Given the description of an element on the screen output the (x, y) to click on. 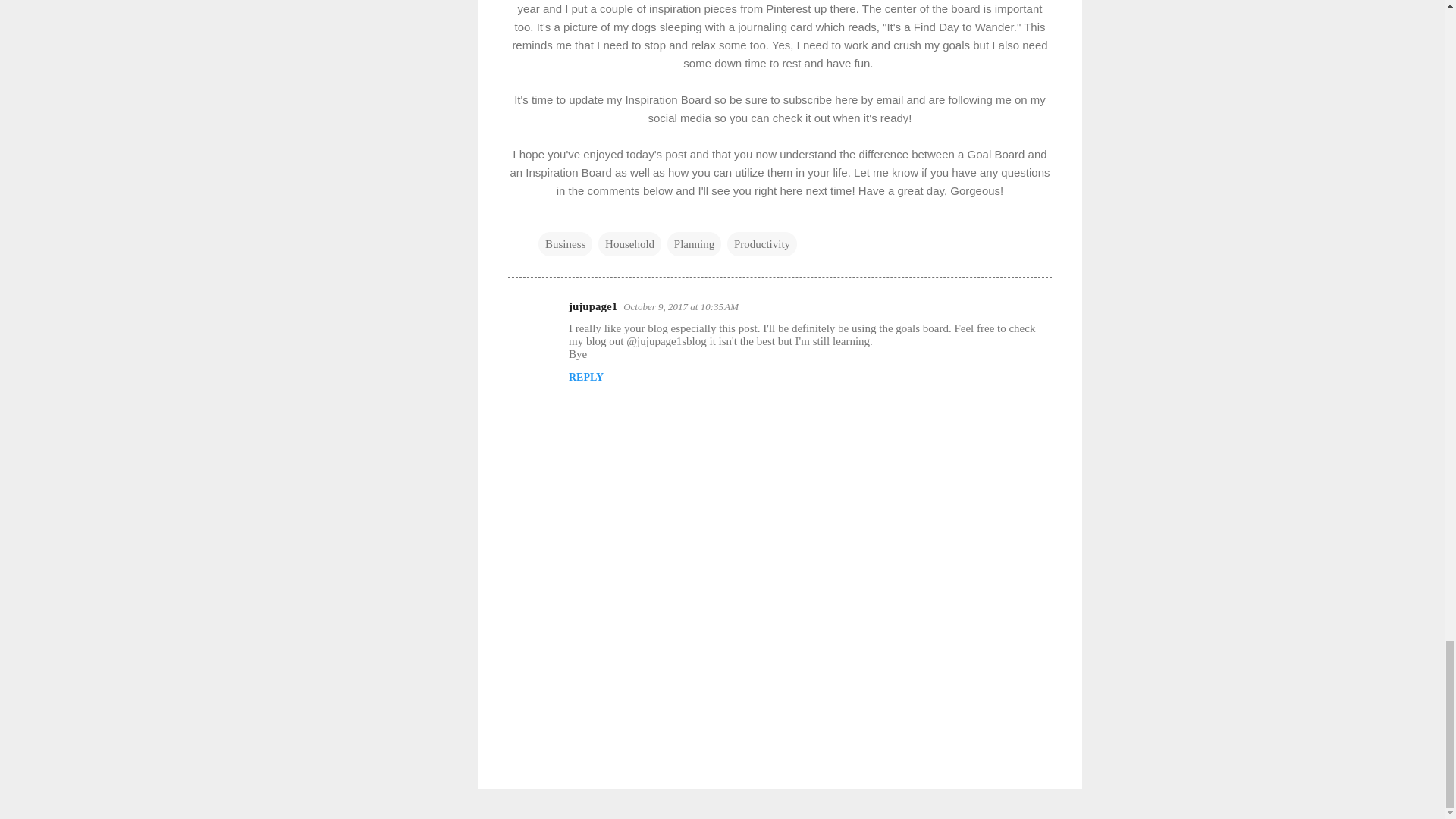
Business (565, 243)
Productivity (761, 243)
Planning (693, 243)
Household (629, 243)
jujupage1 (593, 306)
REPLY (586, 377)
